Given the description of an element on the screen output the (x, y) to click on. 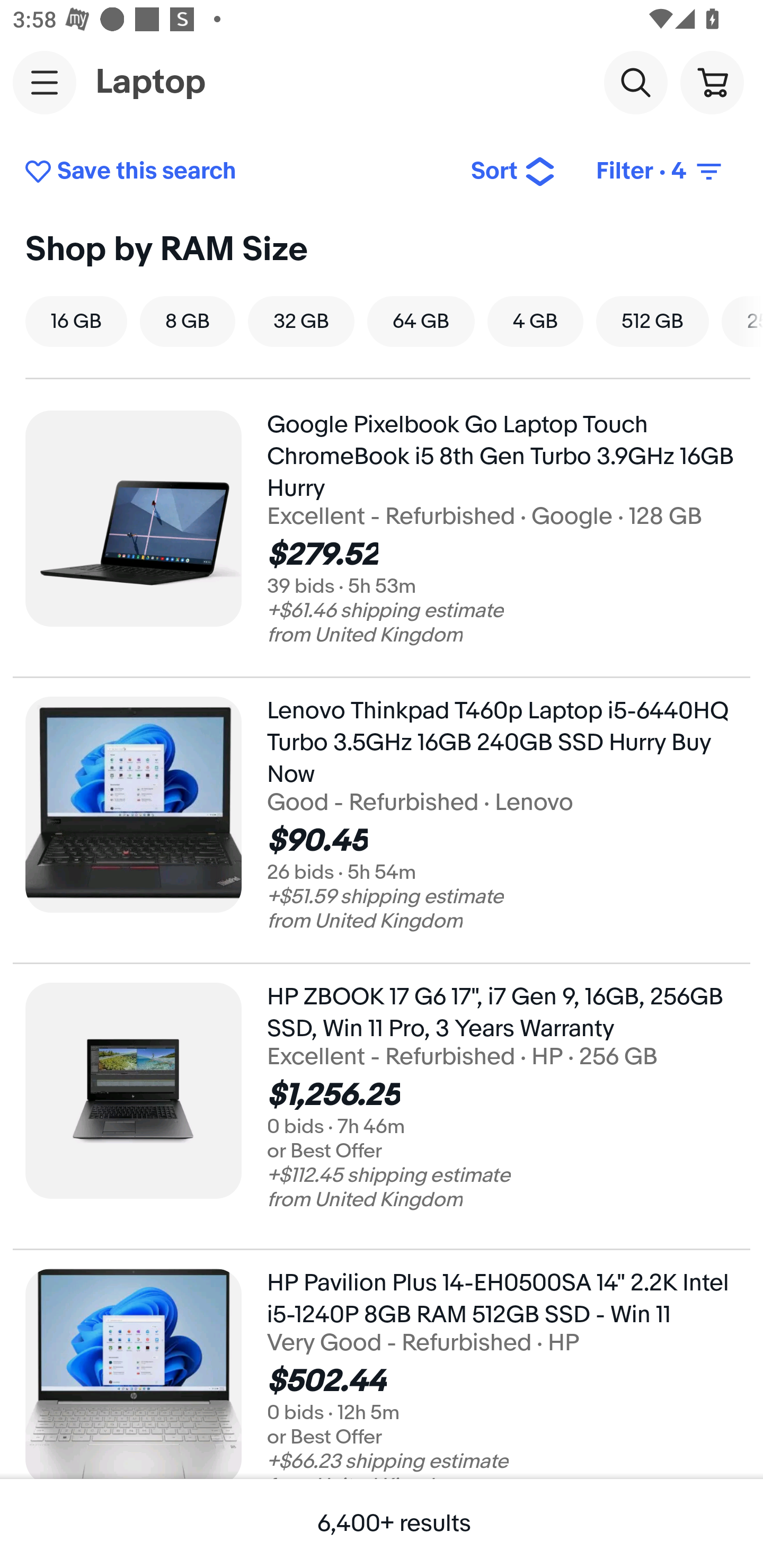
Main navigation, open (44, 82)
Search (635, 81)
Cart button shopping cart (711, 81)
Save this search (234, 171)
Sort (513, 171)
Filter • 4 Filter (4 applied) (660, 171)
16 GB 16 GB, RAM Size (76, 321)
8 GB 8 GB, RAM Size (187, 321)
32 GB 32 GB, RAM Size (300, 321)
64 GB 64 GB, RAM Size (420, 321)
4 GB 4 GB, RAM Size (535, 321)
512 GB 512 GB, RAM Size (651, 321)
